Given the description of an element on the screen output the (x, y) to click on. 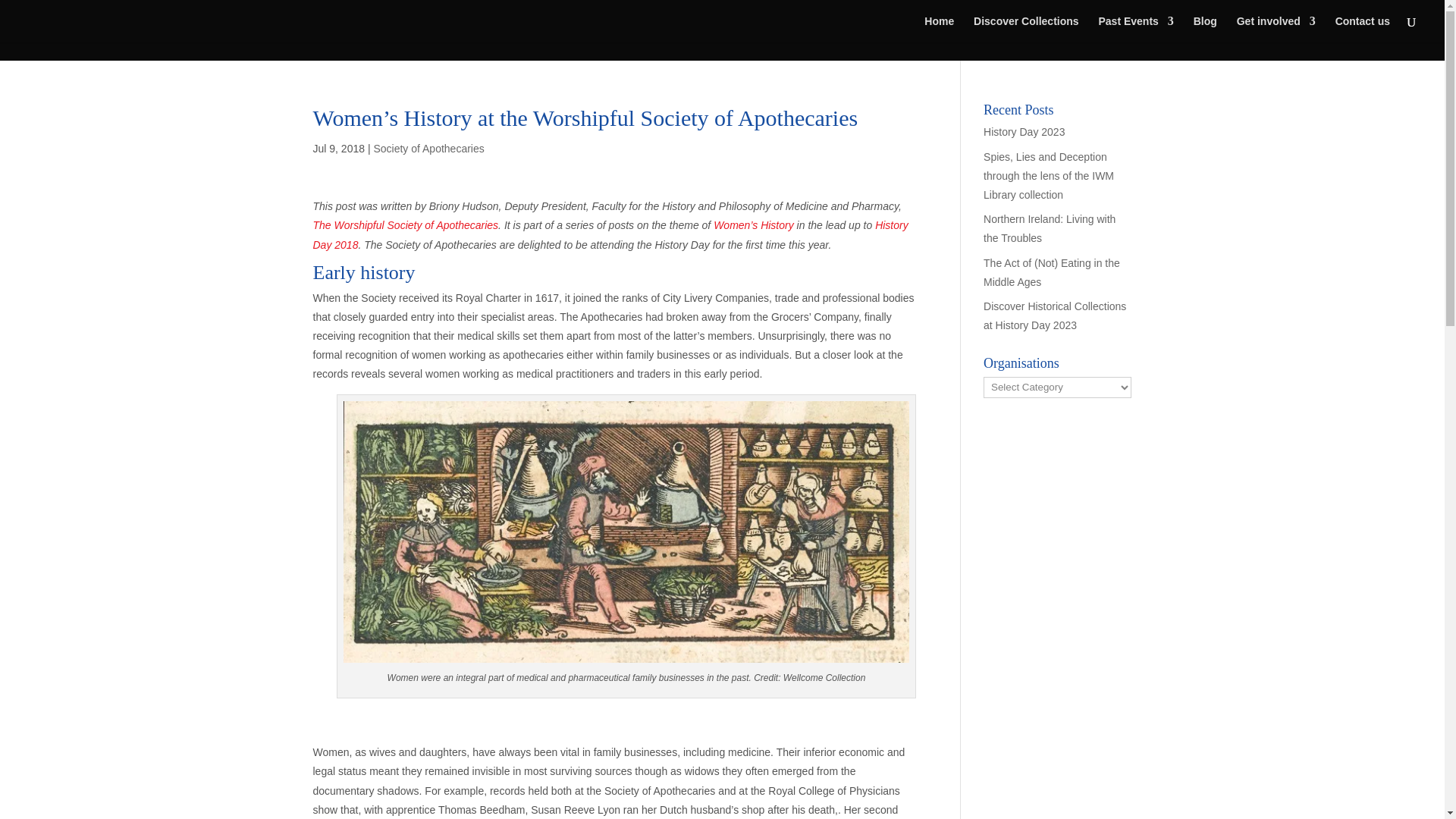
Past Events (1135, 28)
Contact us (1362, 28)
Get involved (1276, 28)
Discover Collections (1026, 28)
Home (938, 28)
